Given the description of an element on the screen output the (x, y) to click on. 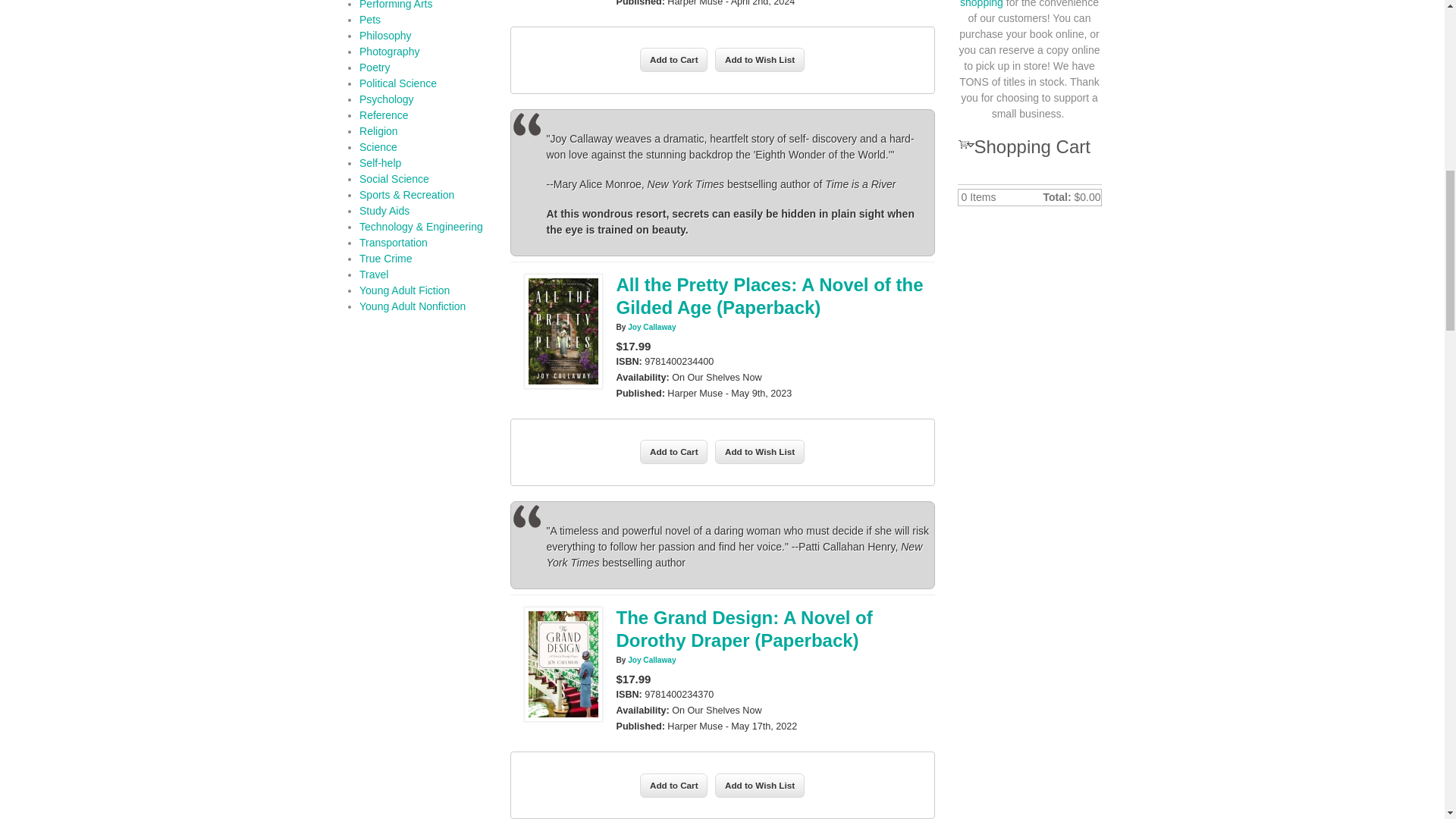
Joy Callaway (651, 660)
Add to Cart (673, 785)
Add to Wish List (759, 59)
Add to Wish List (759, 451)
Add to Wish List (759, 59)
View your shopping cart. (962, 143)
Add to Cart (673, 451)
Add to Wish List (759, 451)
Add to Cart (673, 59)
Add to Wish List (759, 785)
Joy Callaway (651, 326)
Add to Cart (673, 451)
Add to Cart (673, 785)
Add to Wish List (759, 785)
Add to Cart (673, 59)
